Given the description of an element on the screen output the (x, y) to click on. 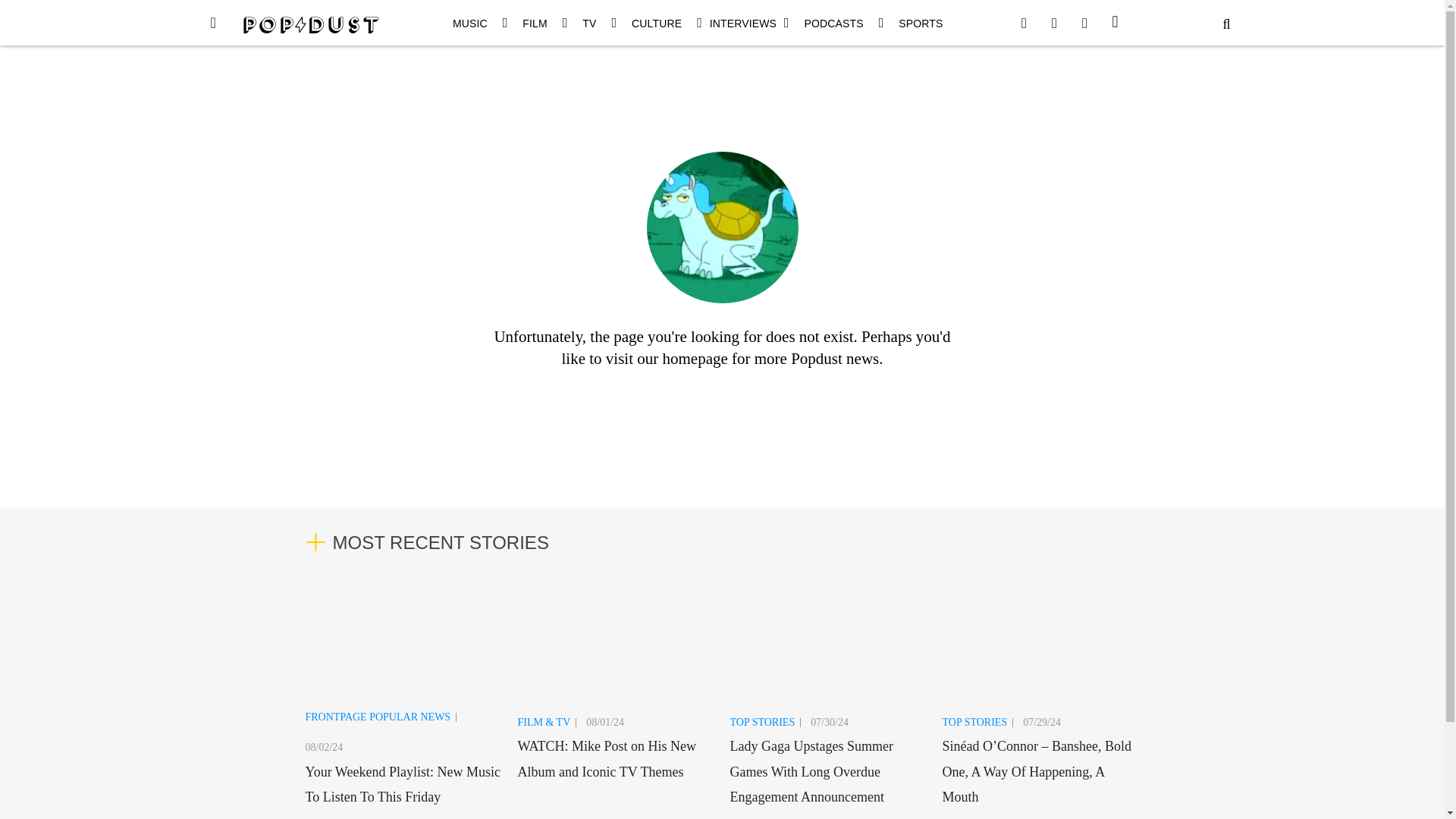
INTERVIEWS (742, 22)
FILM (534, 22)
CULTURE (656, 22)
MUSIC (470, 22)
